Given the description of an element on the screen output the (x, y) to click on. 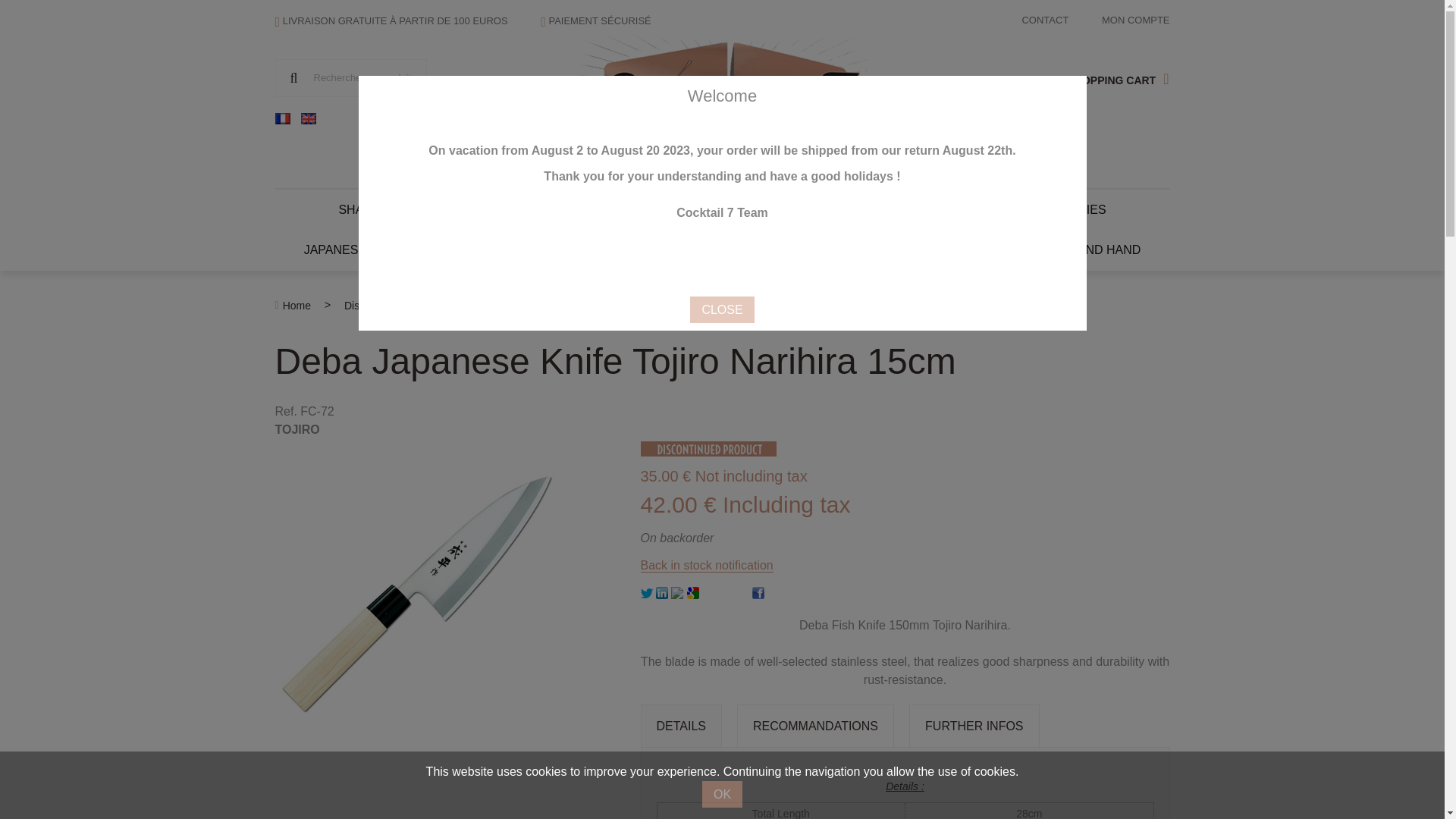
MON COMPTE (1136, 19)
Shakers (366, 209)
Close (722, 309)
shopping cart (1117, 77)
English (308, 118)
JIGGERS (450, 209)
SHAKERS (366, 209)
Home page (721, 98)
CONTACT (1045, 19)
ok (294, 77)
